Given the description of an element on the screen output the (x, y) to click on. 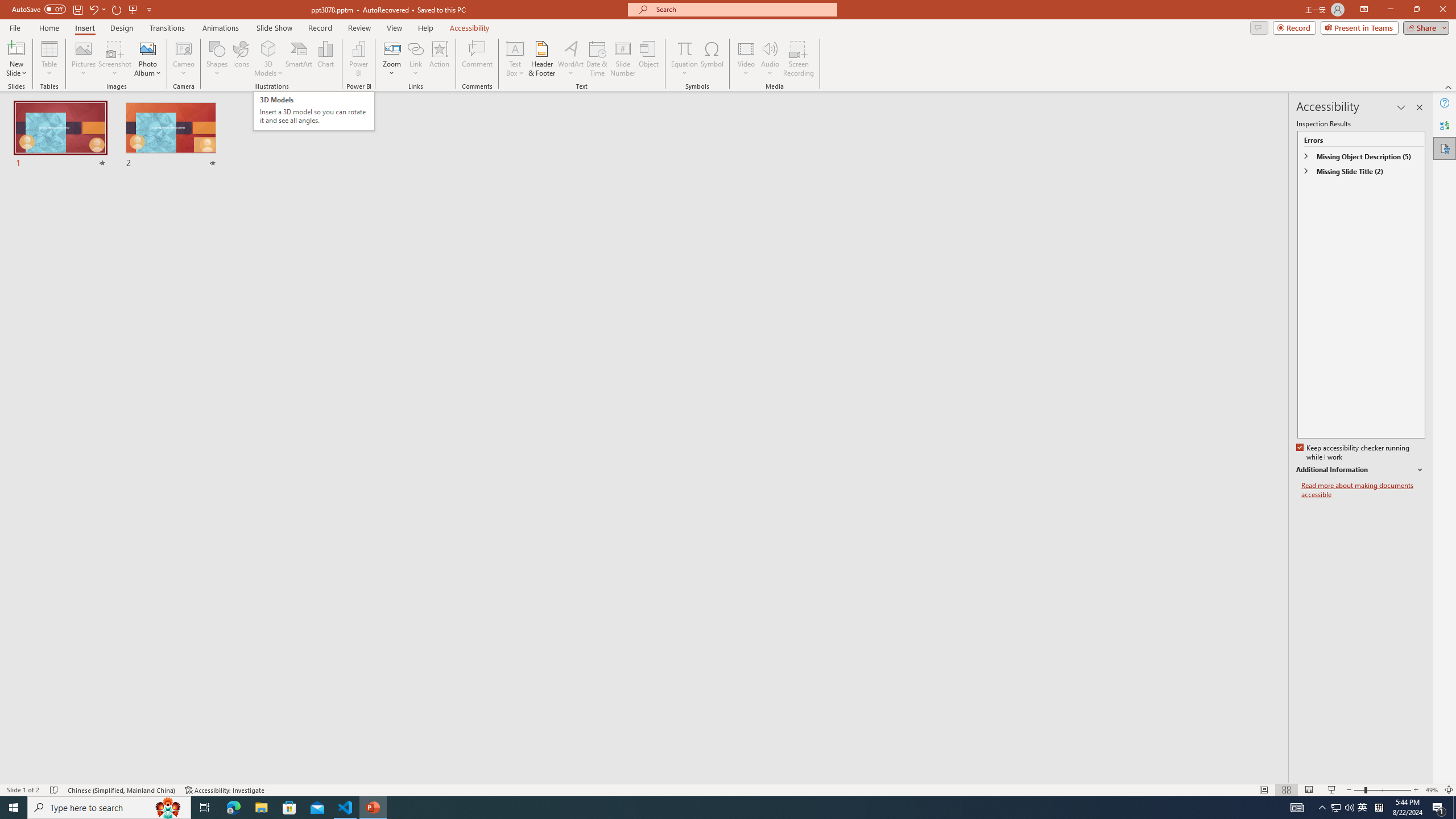
Chart... (325, 58)
Keep accessibility checker running while I work (1353, 452)
Power BI (358, 58)
Audio (769, 58)
Video (745, 58)
